Given the description of an element on the screen output the (x, y) to click on. 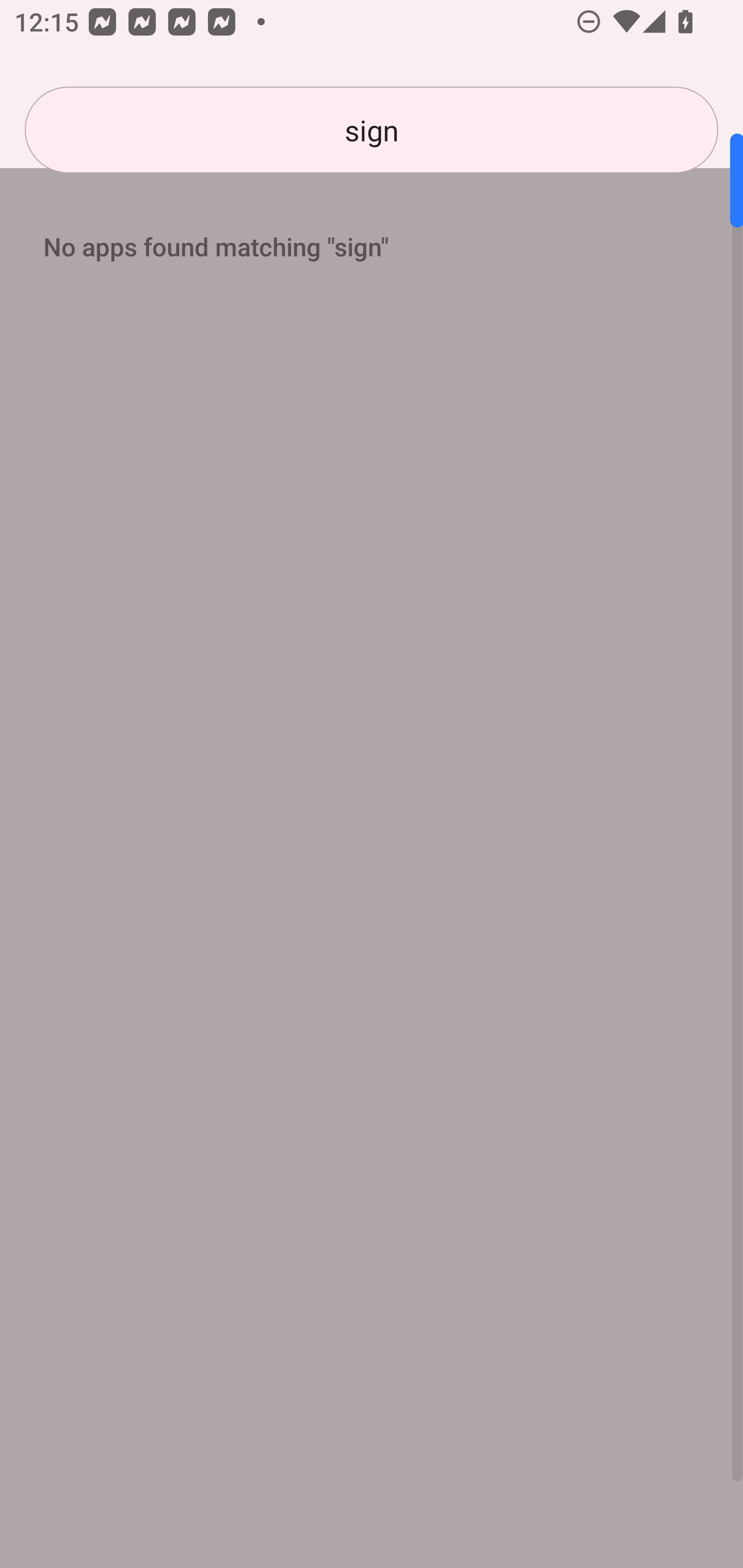
sign (371, 130)
